Given the description of an element on the screen output the (x, y) to click on. 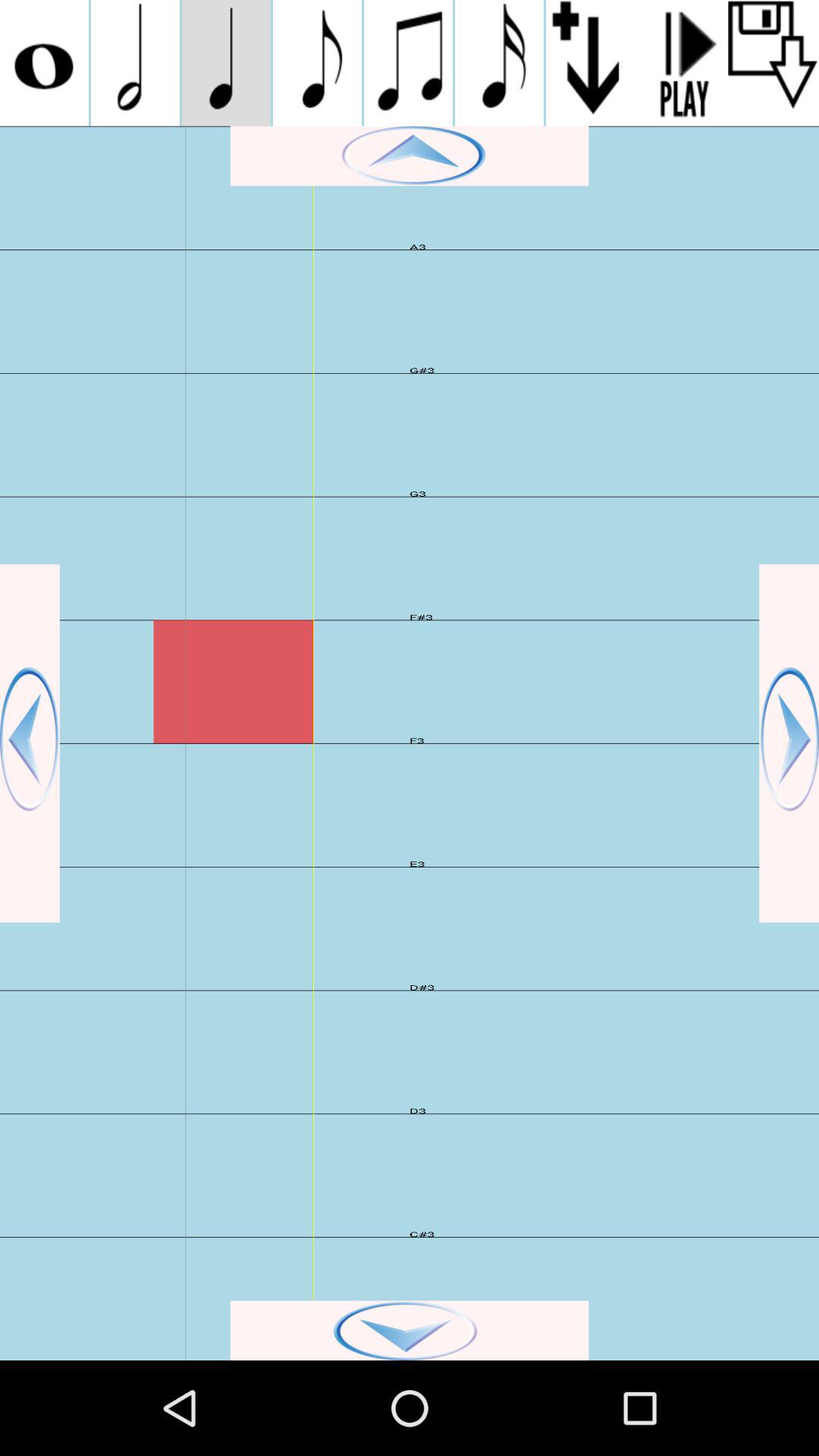
add musical note (408, 63)
